Given the description of an element on the screen output the (x, y) to click on. 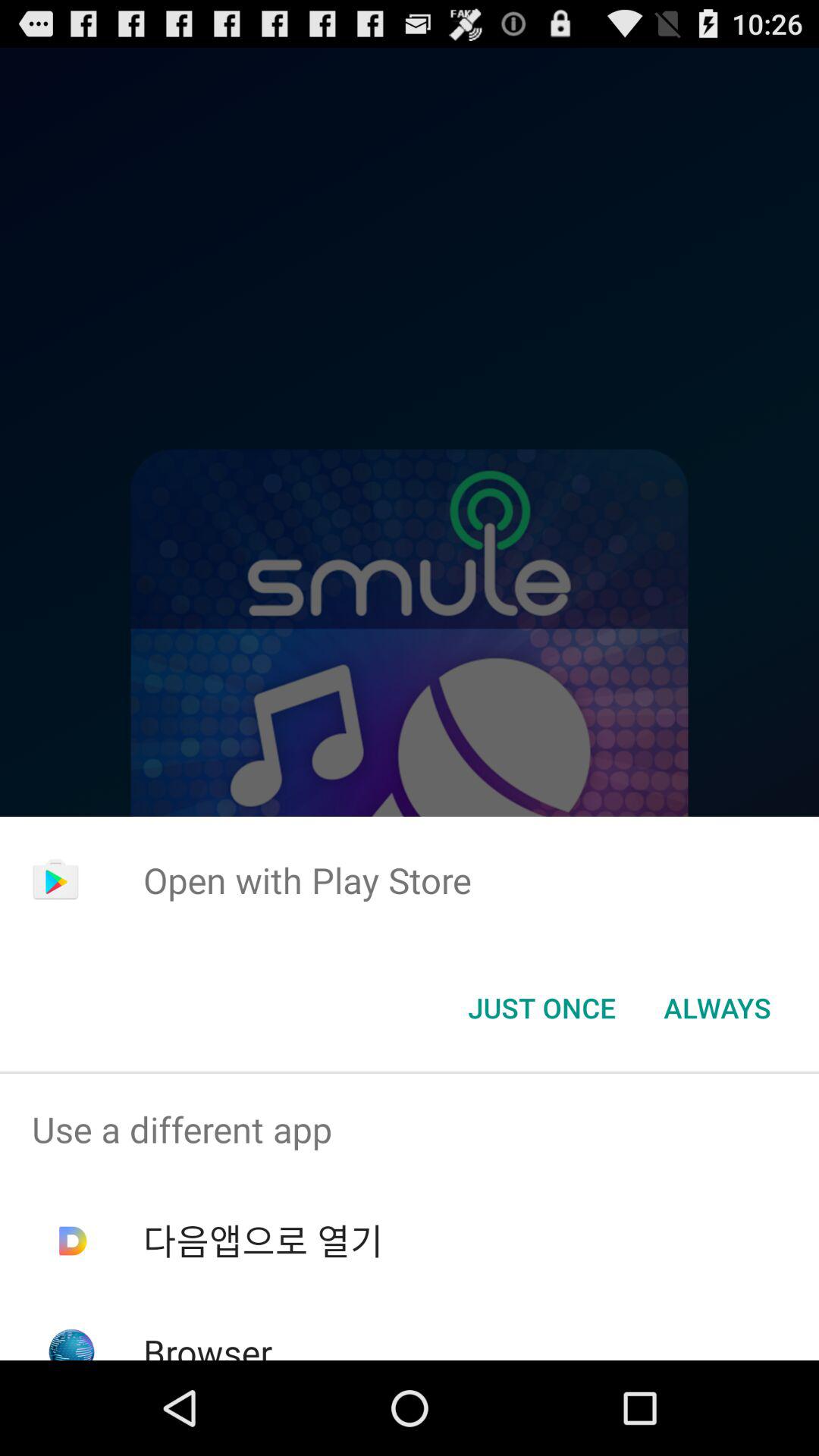
swipe to use a different icon (409, 1129)
